Given the description of an element on the screen output the (x, y) to click on. 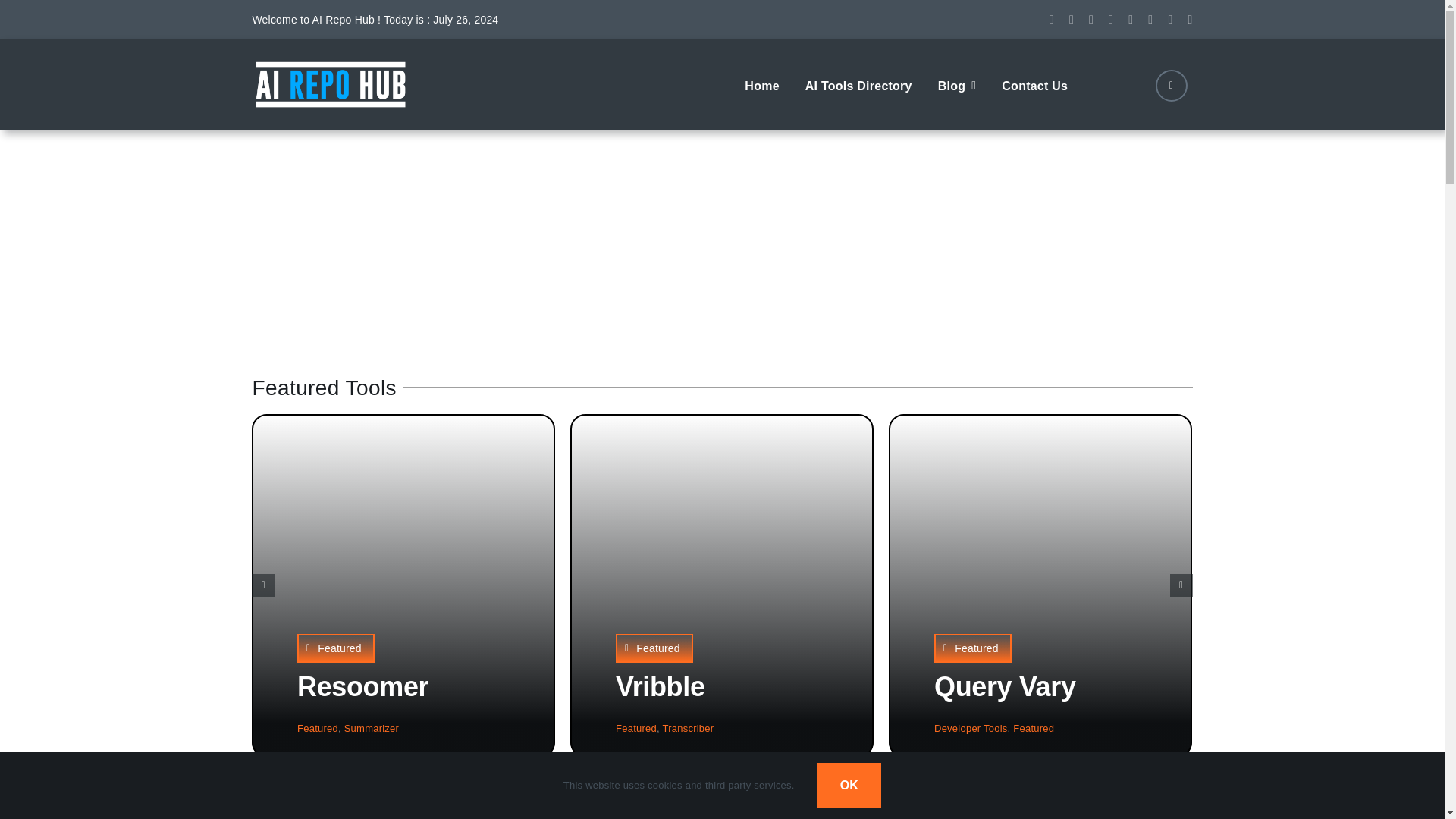
Featured (335, 647)
Summarizer (370, 727)
Home (761, 84)
Contact Us (1034, 84)
Blog (956, 84)
Featured (317, 727)
AI Tools Directory (858, 84)
Resoomer (362, 685)
